Given the description of an element on the screen output the (x, y) to click on. 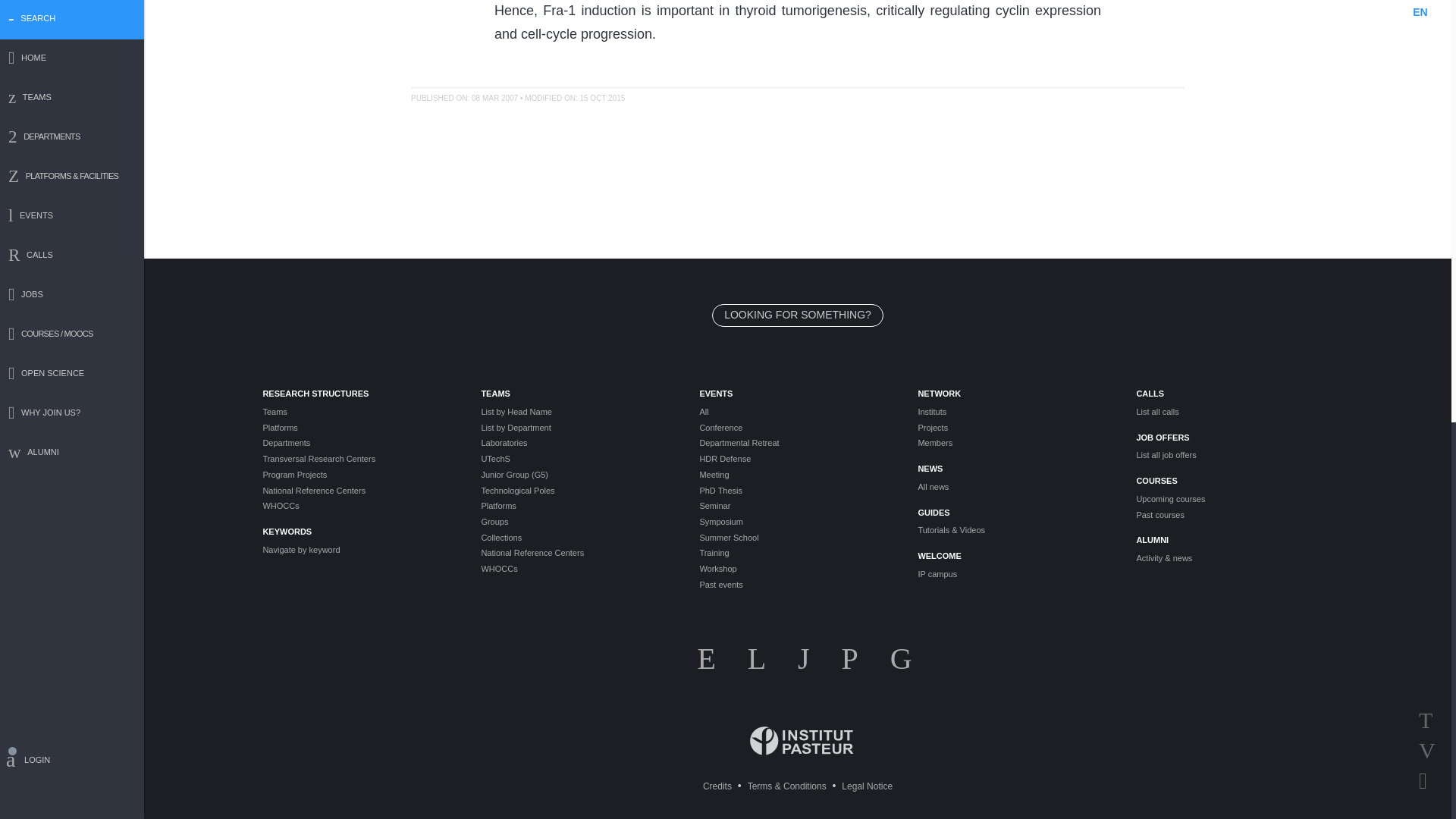
Departments (360, 442)
Program Projects (360, 474)
Transversal Research Centers (360, 459)
Teams (360, 411)
Platforms (360, 427)
